Given the description of an element on the screen output the (x, y) to click on. 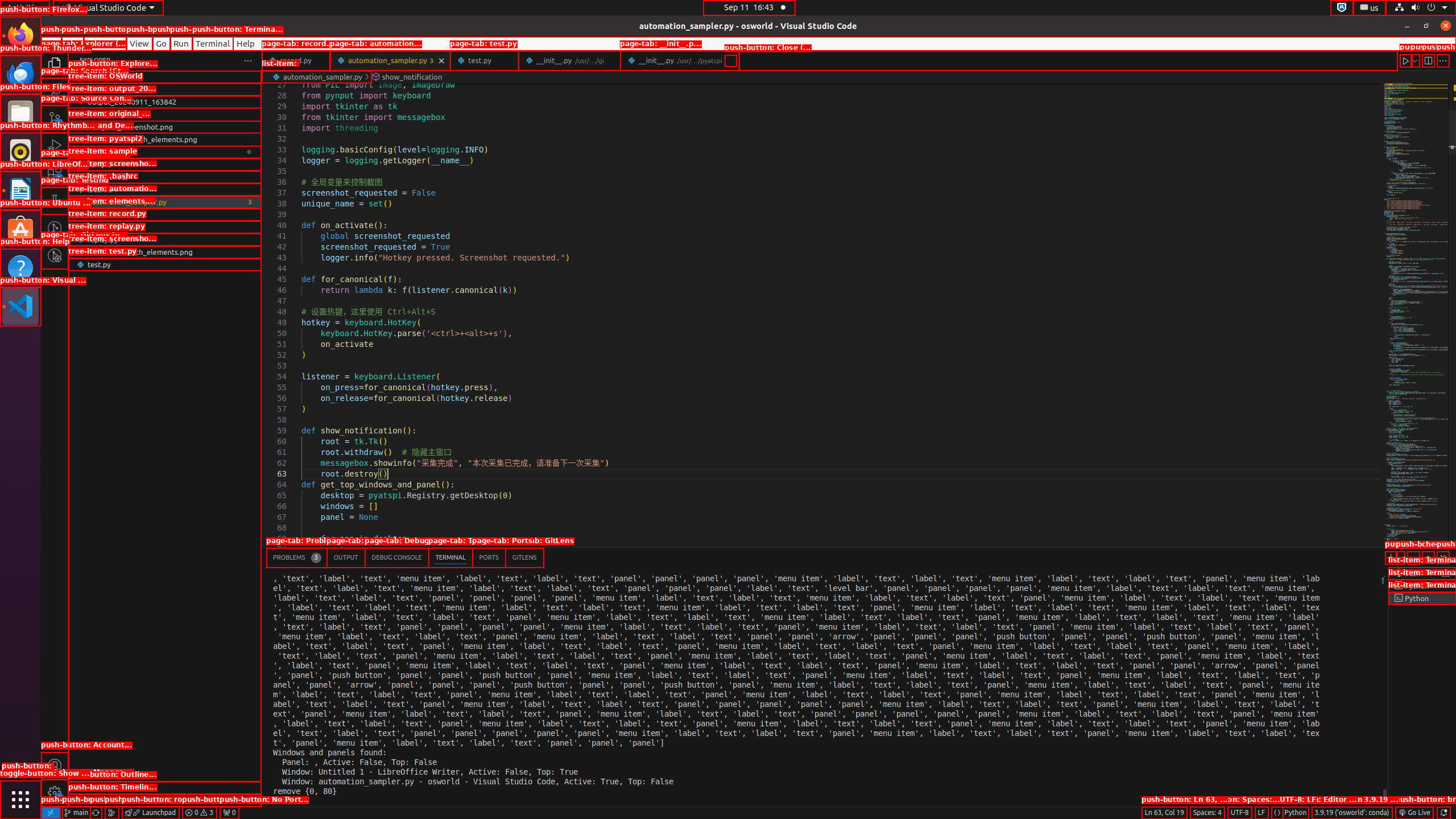
Launch Profile... Element type: push-button (1399, 557)
rocket gitlens-unplug Launchpad, GitLens Launchpad ᴘʀᴇᴠɪᴇᴡ    &mdash;    [$(question)](command:gitlens.launchpad.indicator.action?%22info%22 "What is this?") [$(gear)](command:workbench.action.openSettings?%22gitlens.launchpad%22 "Settings")  |  [$(circle-slash) Hide](command:gitlens.launchpad.indicator.action?%22hide%22 "Hide") --- [Launchpad](command:gitlens.launchpad.indicator.action?%info%22 "Learn about Launchpad") organizes your pull requests into actionable groups to help you focus and keep your team unblocked. It's always accessible using the `GitLens: Open Launchpad` command from the Command Palette. --- [Connect an integration](command:gitlens.showLaunchpad?%7B%22source%22%3A%22launchpad-indicator%22%7D "Connect an integration") to get started. Element type: push-button (150, 812)
Run and Debug (Ctrl+Shift+D) Element type: page-tab (54, 145)
original_screenshot.png Element type: tree-item (164, 126)
broadcast Go Live, Click to run live server Element type: push-button (1414, 812)
